Given the description of an element on the screen output the (x, y) to click on. 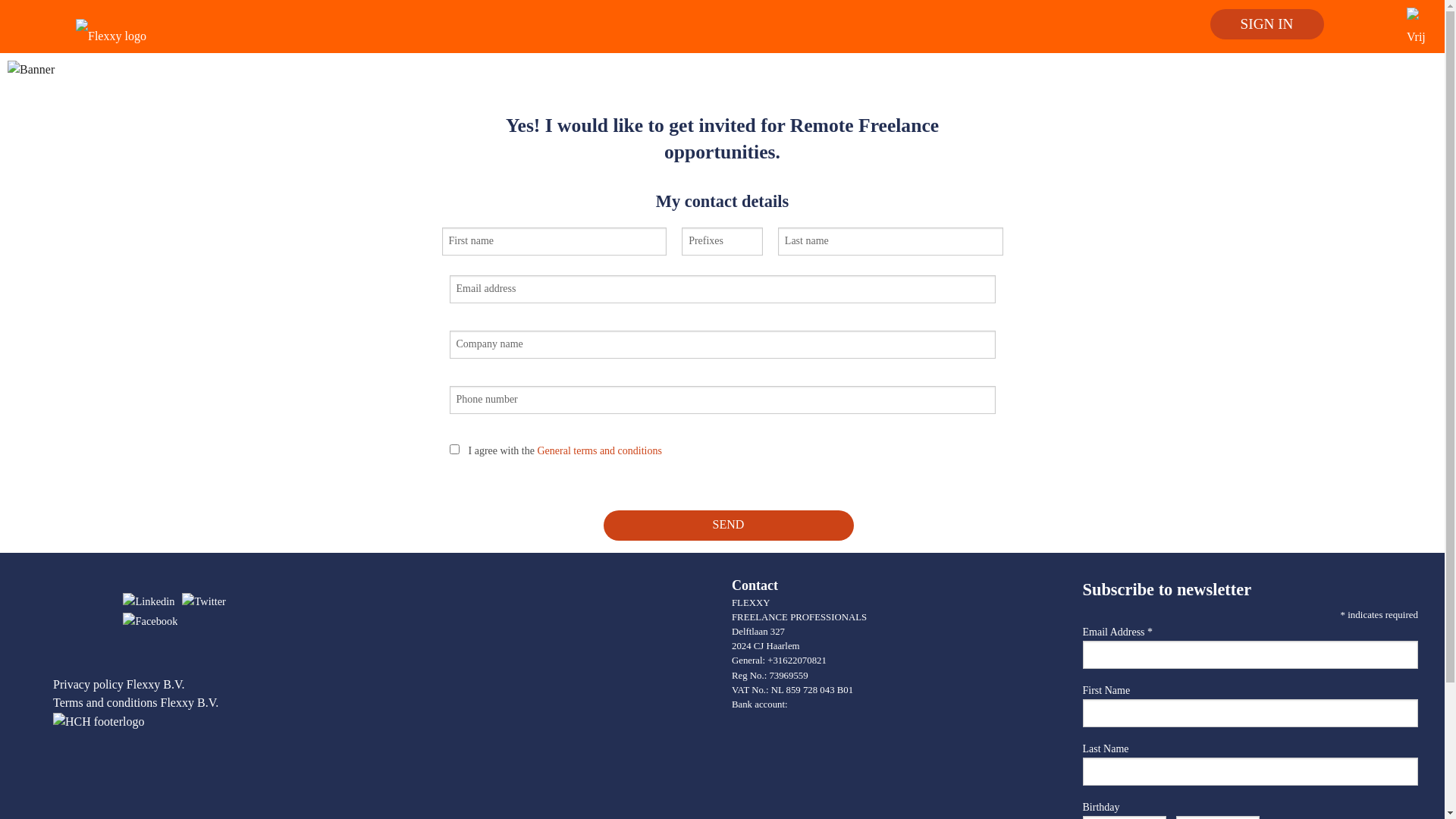
Privacy policy Flexxy B.V.
Terms and conditions Flexxy B.V. Element type: text (135, 693)
General terms and conditions Element type: text (598, 450)
SEND Element type: text (728, 525)
SIGN IN Element type: text (1267, 24)
   
SEND
  Element type: text (722, 512)
